Given the description of an element on the screen output the (x, y) to click on. 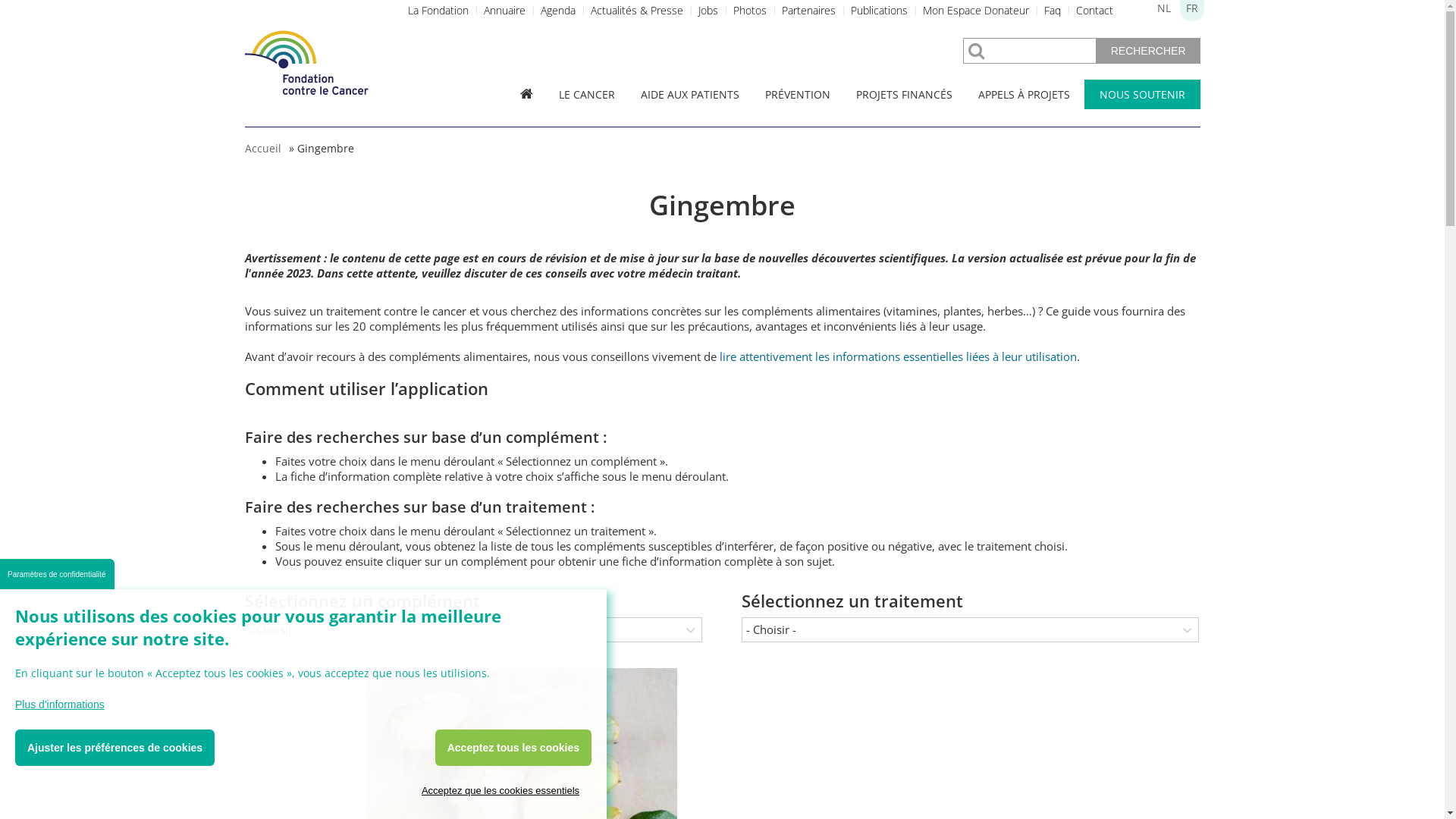
Annuaire Element type: text (504, 10)
Photos Element type: text (748, 10)
Rechercher Element type: text (1148, 50)
Acceptez tous les cookies Element type: text (513, 747)
Faq Element type: text (1051, 10)
Mon Espace Donateur Element type: text (975, 10)
Allez Element type: text (30, 13)
Gaan Element type: text (29, 13)
Accueil Element type: text (262, 148)
HOME Element type: text (526, 93)
Agenda Element type: text (556, 10)
La Fondation Element type: text (437, 10)
Jobs Element type: text (707, 10)
Publications Element type: text (878, 10)
LE CANCER Element type: text (586, 94)
NOUS SOUTENIR Element type: text (1142, 94)
AIDE AUX PATIENTS Element type: text (689, 94)
Contact Element type: text (1093, 10)
Plus d'informations Element type: text (59, 704)
gingembre_gember.jpg Element type: text (486, 695)
Partenaires Element type: text (807, 10)
Acceptez que les cookies essentiels Element type: text (500, 790)
